Given the description of an element on the screen output the (x, y) to click on. 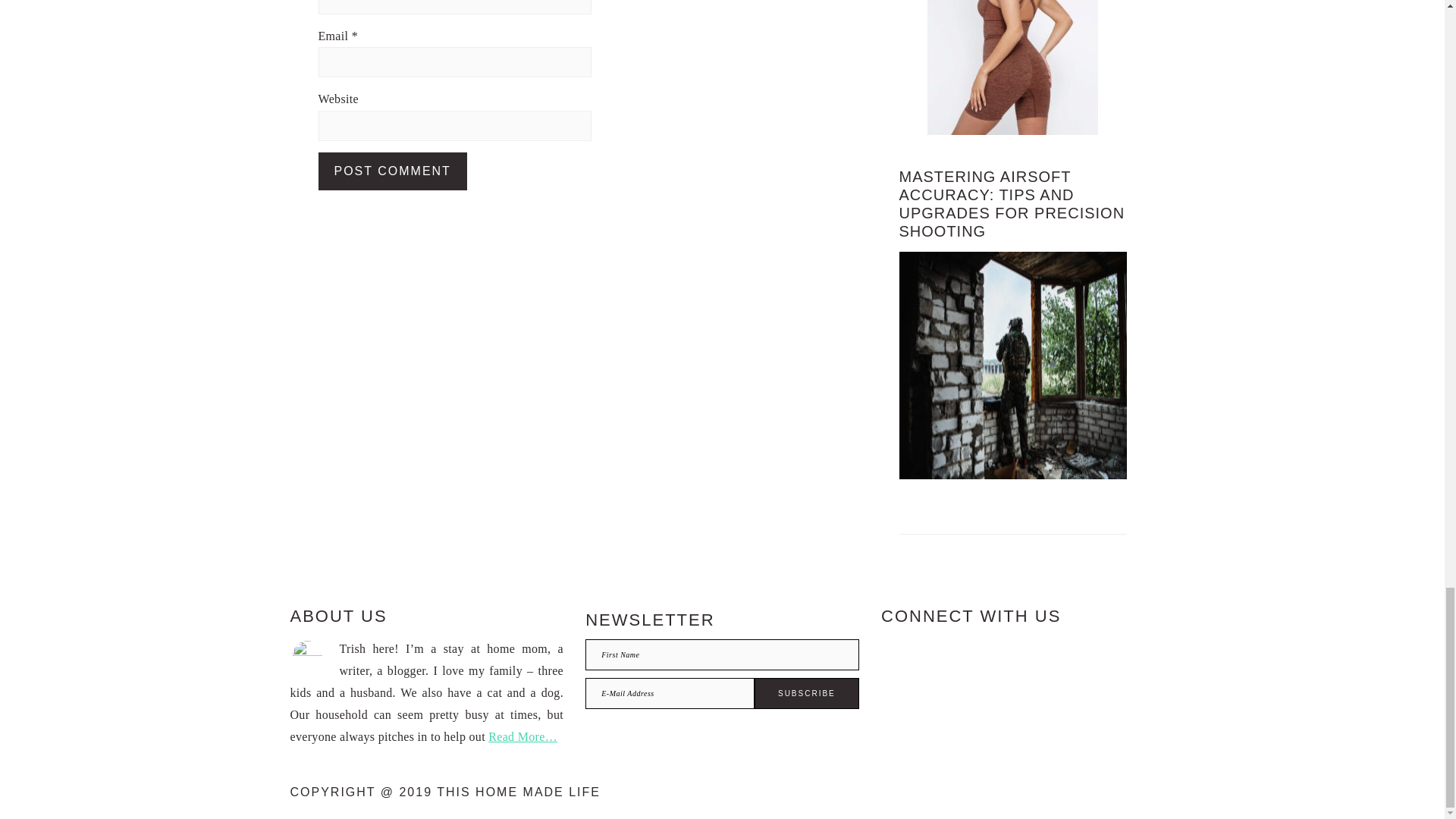
Post Comment (392, 171)
Post Comment (392, 171)
Subscribe (806, 693)
